Given the description of an element on the screen output the (x, y) to click on. 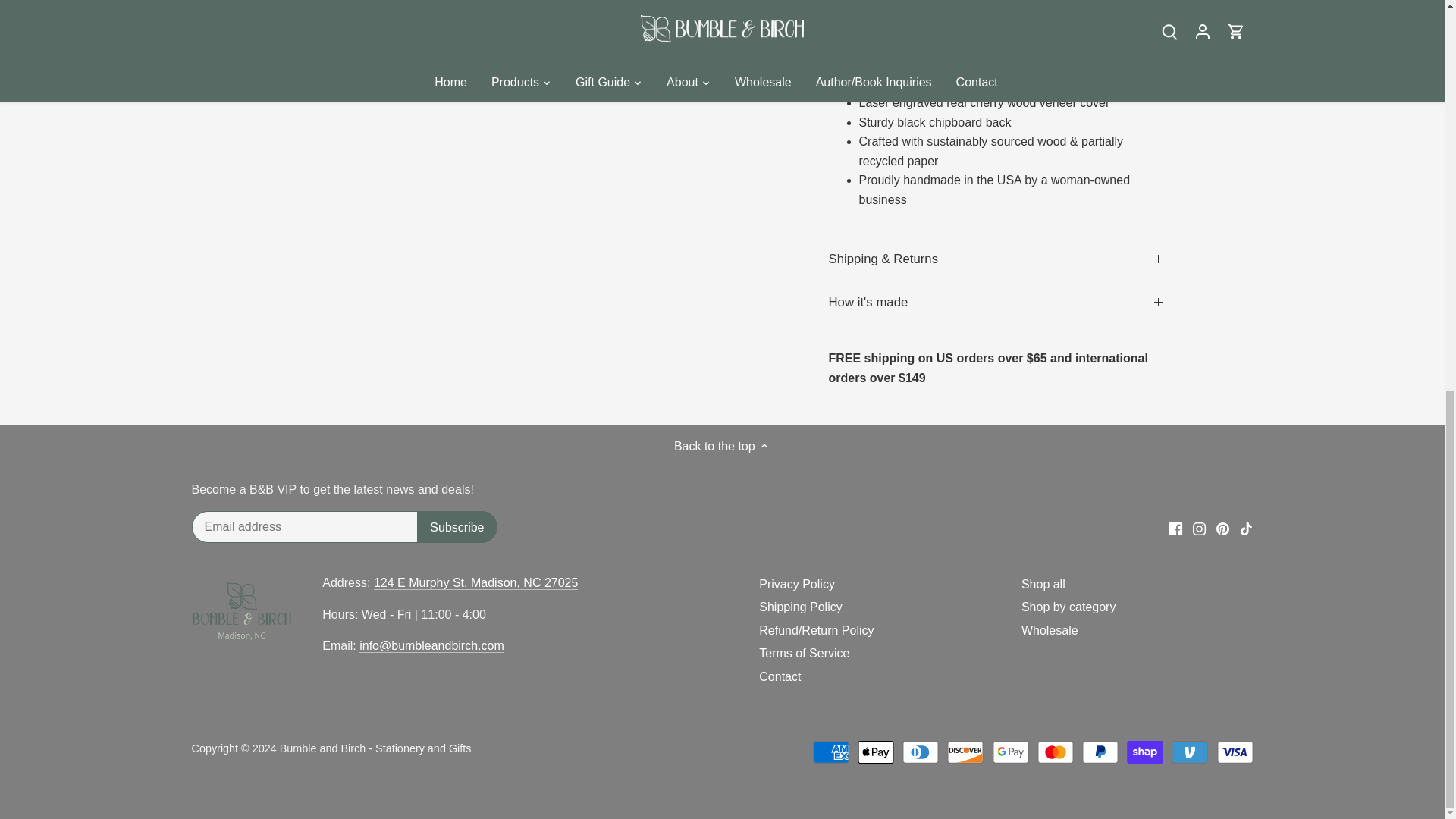
Pinterest (1221, 528)
Apple Pay (875, 752)
American Express (830, 752)
Subscribe (456, 526)
Instagram (1198, 528)
Discover (965, 752)
Diners Club (920, 752)
Facebook (1175, 528)
